Given the description of an element on the screen output the (x, y) to click on. 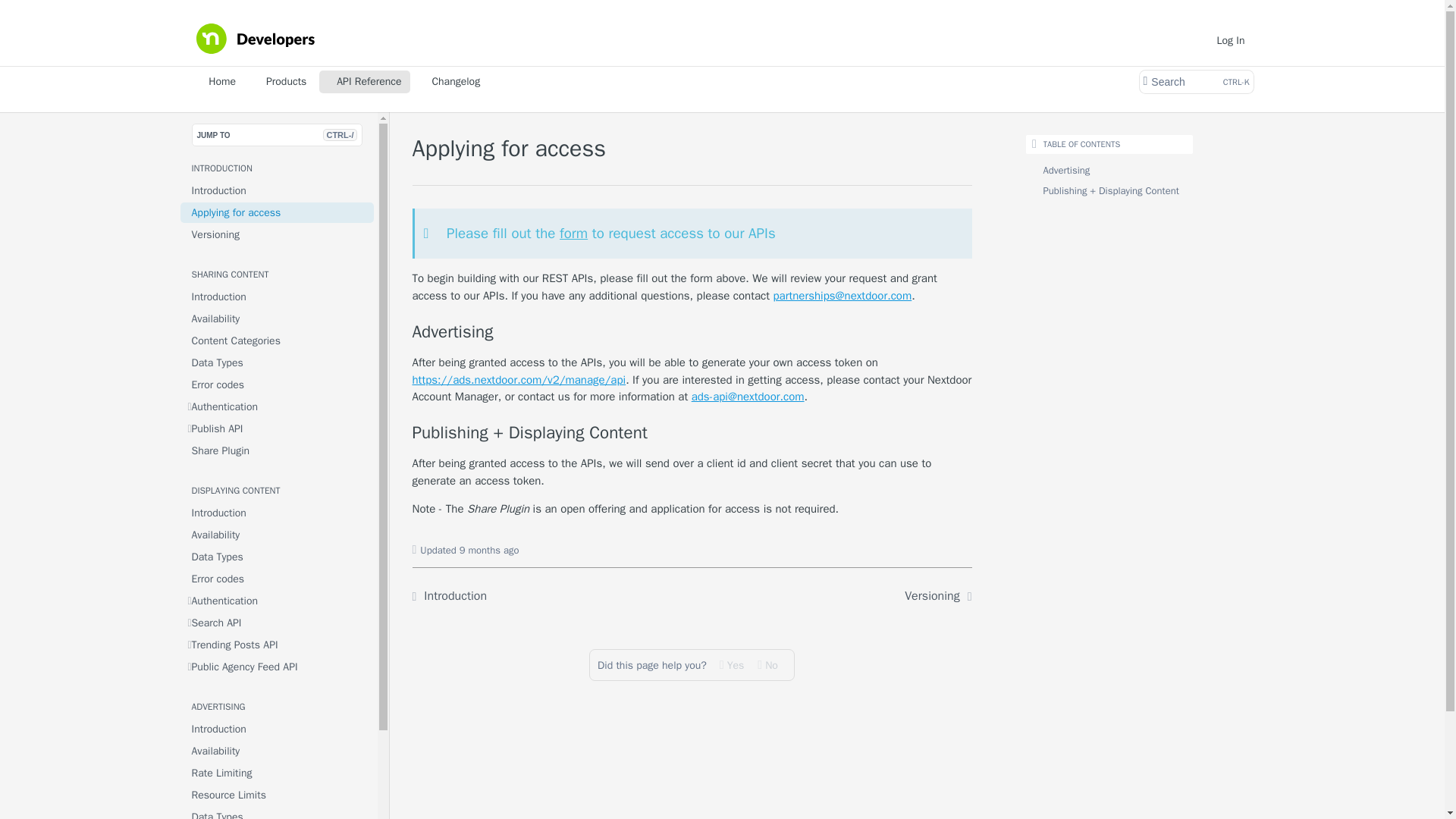
Log In (1230, 39)
Introduction (277, 296)
API Reference (363, 81)
Data Types (277, 362)
Introduction (277, 190)
Advertising (692, 332)
Applying for access (277, 212)
Error codes (277, 384)
Versioning (277, 234)
Content Categories (277, 340)
Publish API (277, 428)
Products (281, 81)
Home (217, 81)
Availability (277, 318)
